Given the description of an element on the screen output the (x, y) to click on. 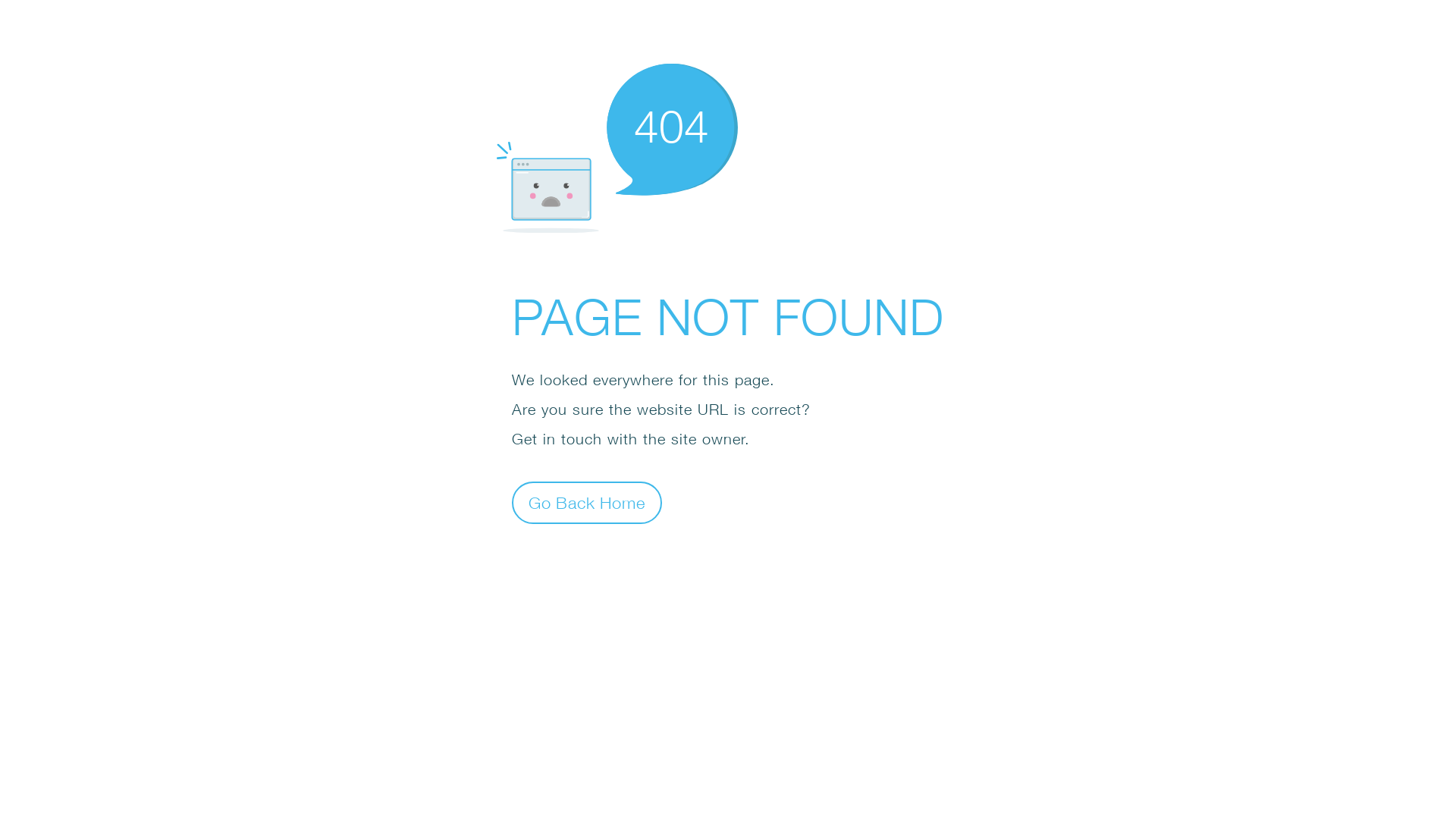
Go Back Home Element type: text (586, 502)
